Given the description of an element on the screen output the (x, y) to click on. 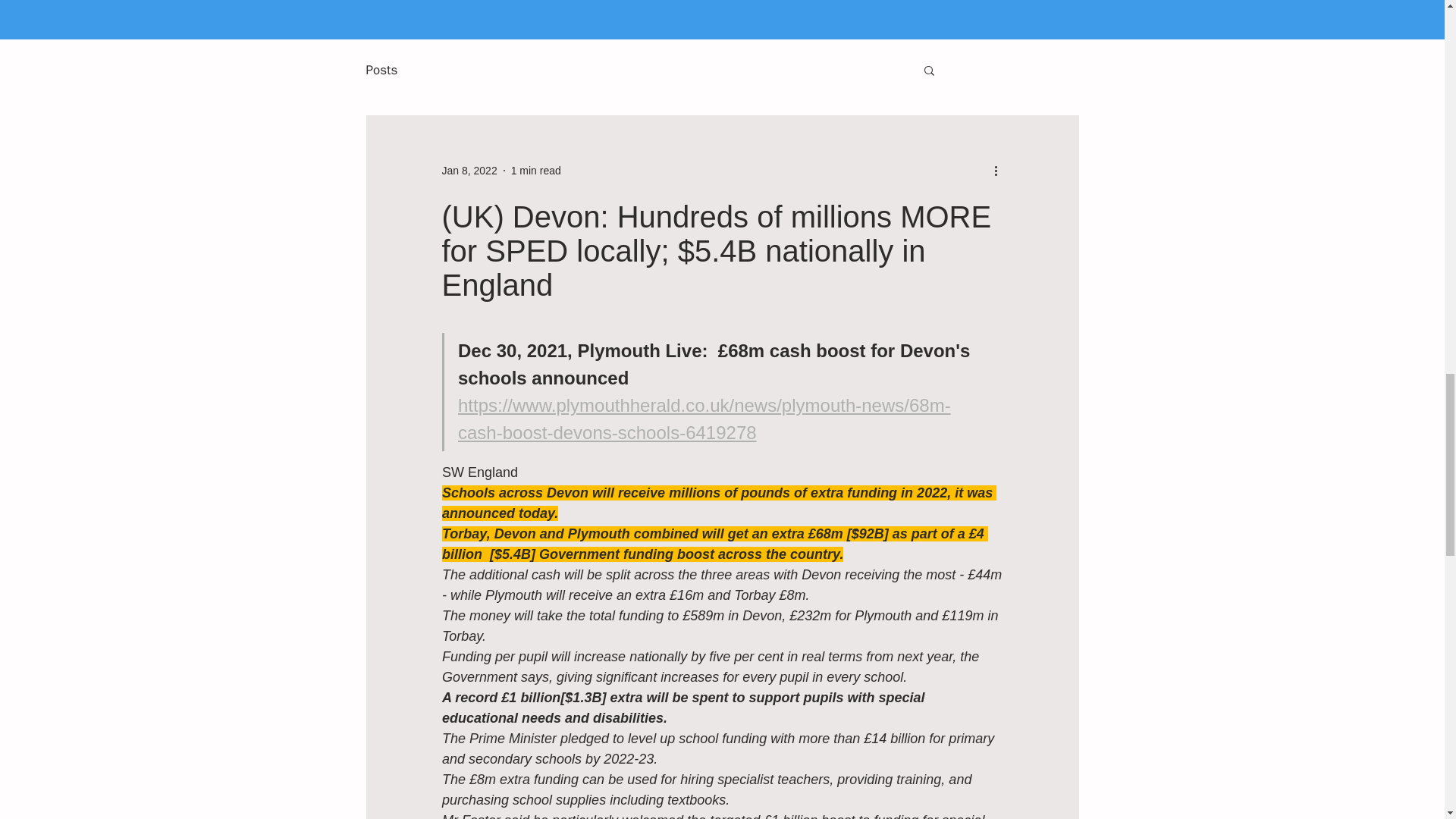
Posts (381, 68)
Jan 8, 2022 (468, 169)
1 min read (535, 169)
